Given the description of an element on the screen output the (x, y) to click on. 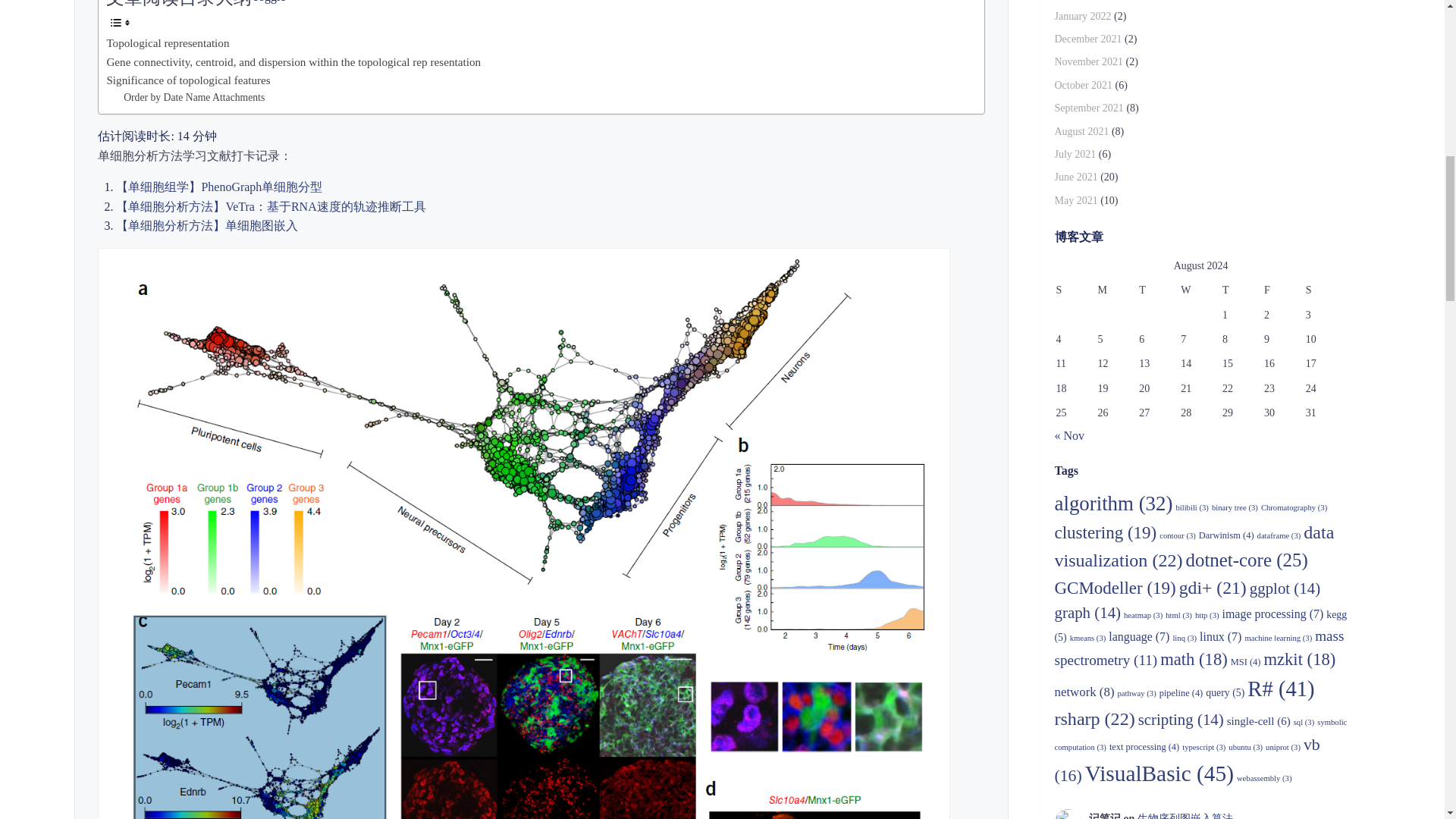
Significance of topological features (187, 80)
Topological representation (167, 43)
Topological representation (167, 43)
Order by Date Name Attachments (193, 98)
Significance of topological features (187, 80)
